Given the description of an element on the screen output the (x, y) to click on. 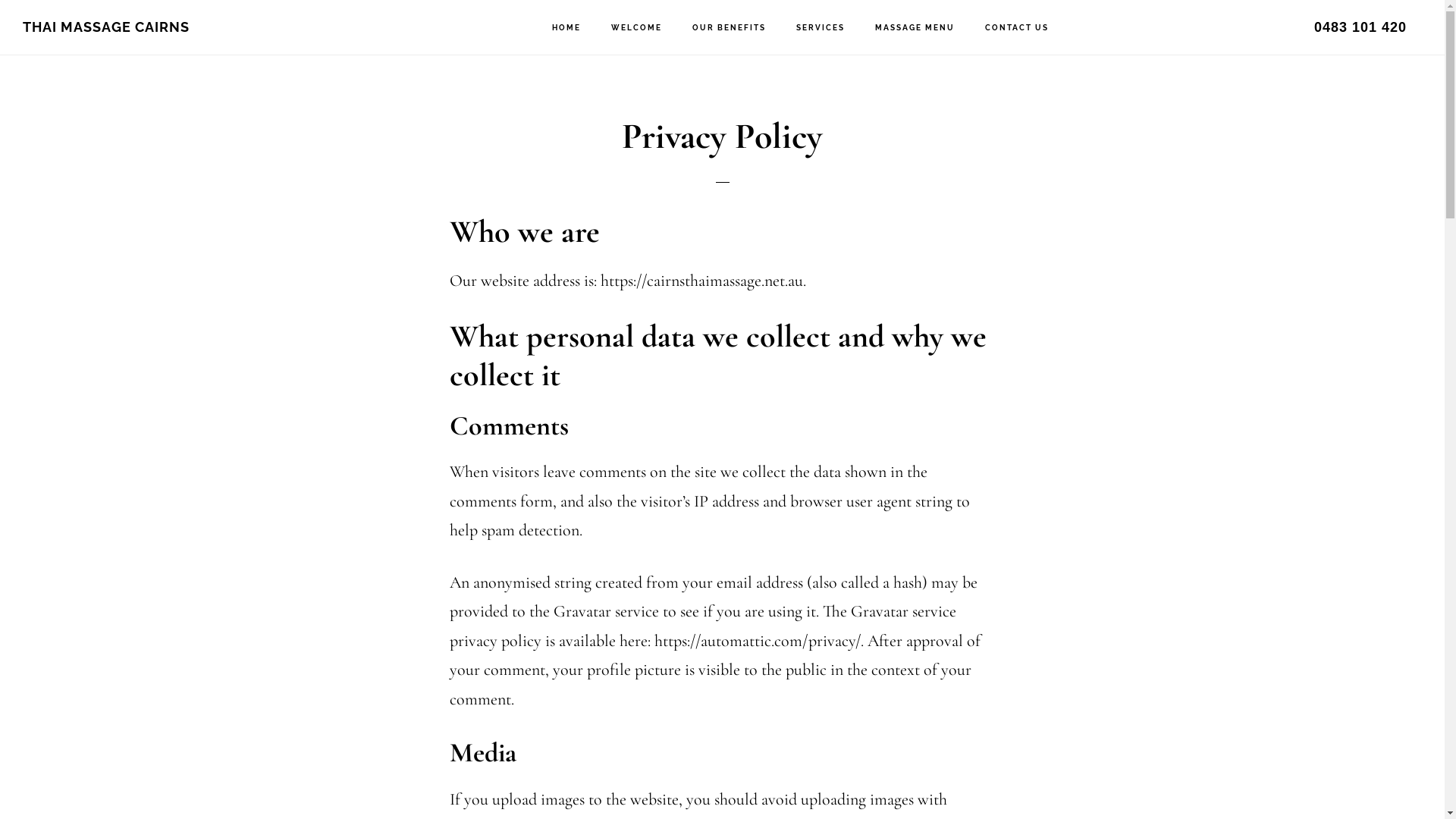
THAI MASSAGE CAIRNS Element type: text (105, 26)
MASSAGE MENU Element type: text (914, 27)
OUR BENEFITS Element type: text (729, 27)
WELCOME Element type: text (636, 27)
HOME Element type: text (566, 27)
Skip to main content Element type: text (0, 0)
SERVICES Element type: text (820, 27)
CONTACT US Element type: text (1016, 27)
